Given the description of an element on the screen output the (x, y) to click on. 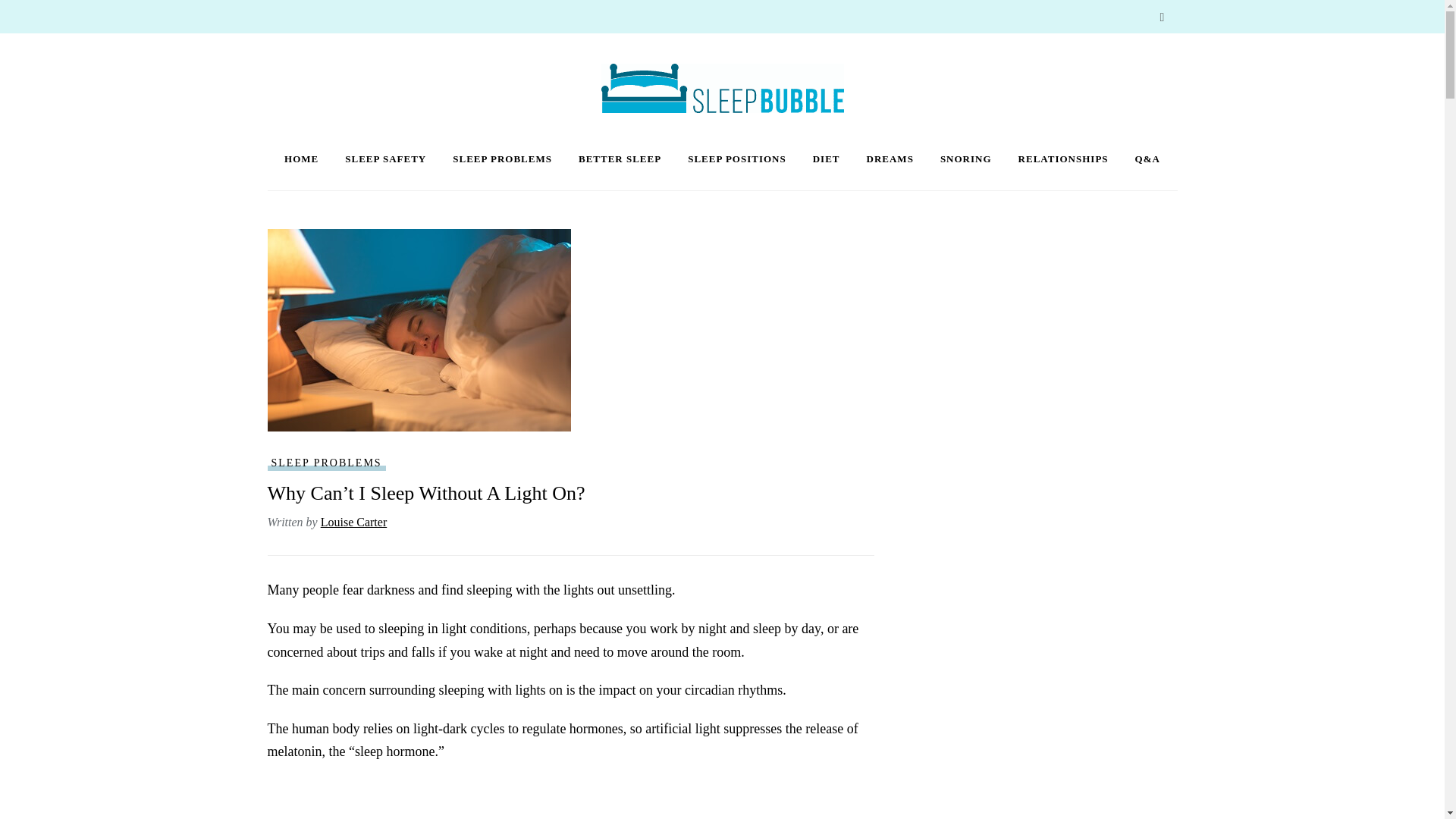
Louise Carter (353, 521)
SNORING (965, 159)
HOME (300, 159)
DREAMS (890, 159)
Search (1161, 18)
SLEEP SAFETY (385, 159)
SLEEP POSITIONS (736, 159)
SLEEP PROBLEMS (501, 159)
BETTER SLEEP (619, 159)
RELATIONSHIPS (1062, 159)
Posts by Louise Carter (353, 521)
SLEEP PROBLEMS (325, 463)
